Given the description of an element on the screen output the (x, y) to click on. 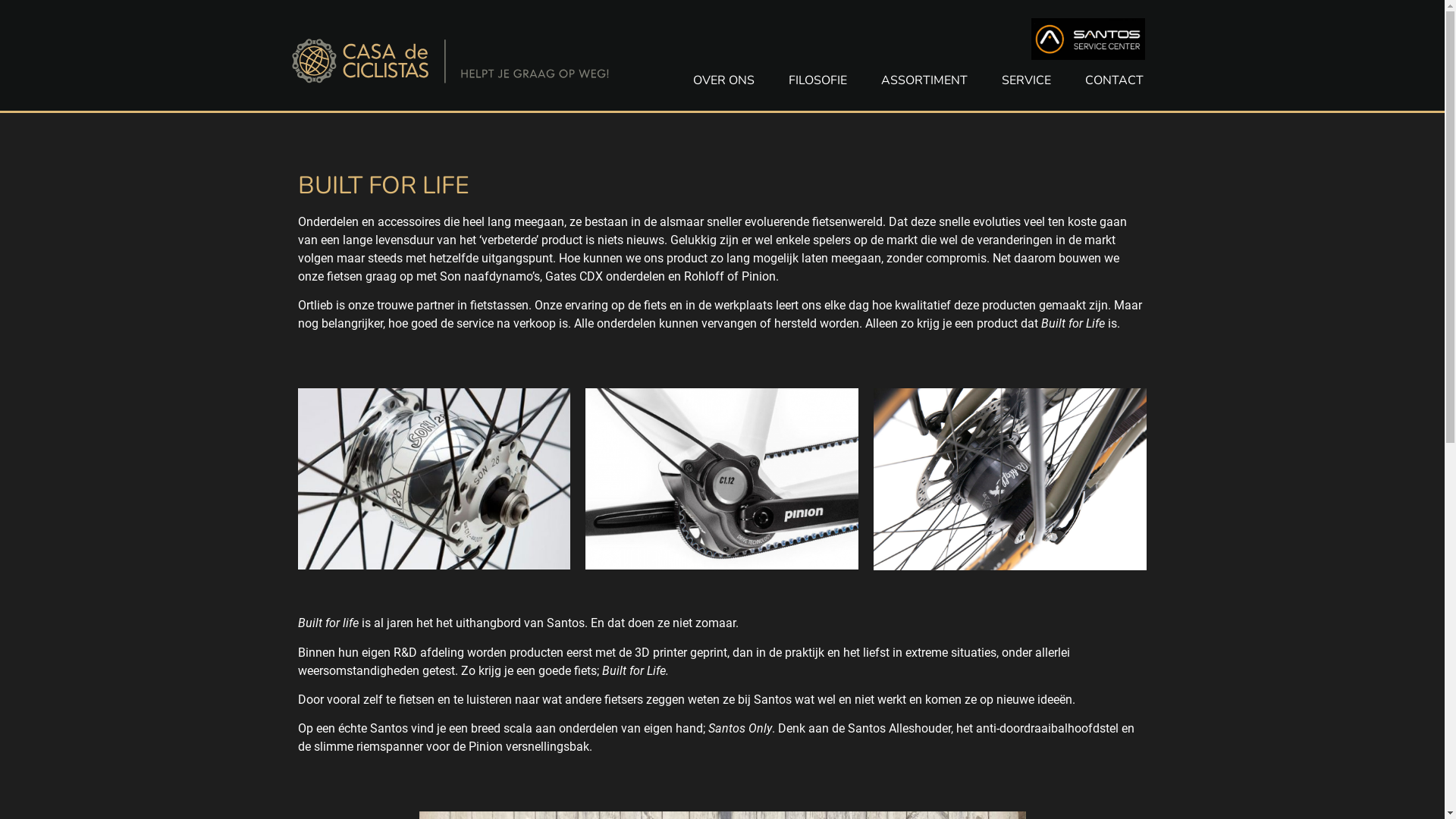
SON-28-new Element type: hover (433, 478)
FILOSOFIE Element type: text (816, 80)
OVER ONS Element type: text (722, 80)
Over ons Element type: text (722, 134)
CONTACT Element type: text (1113, 80)
SERVICE Element type: text (1026, 80)
ASSORTIMENT Element type: text (923, 80)
